Given the description of an element on the screen output the (x, y) to click on. 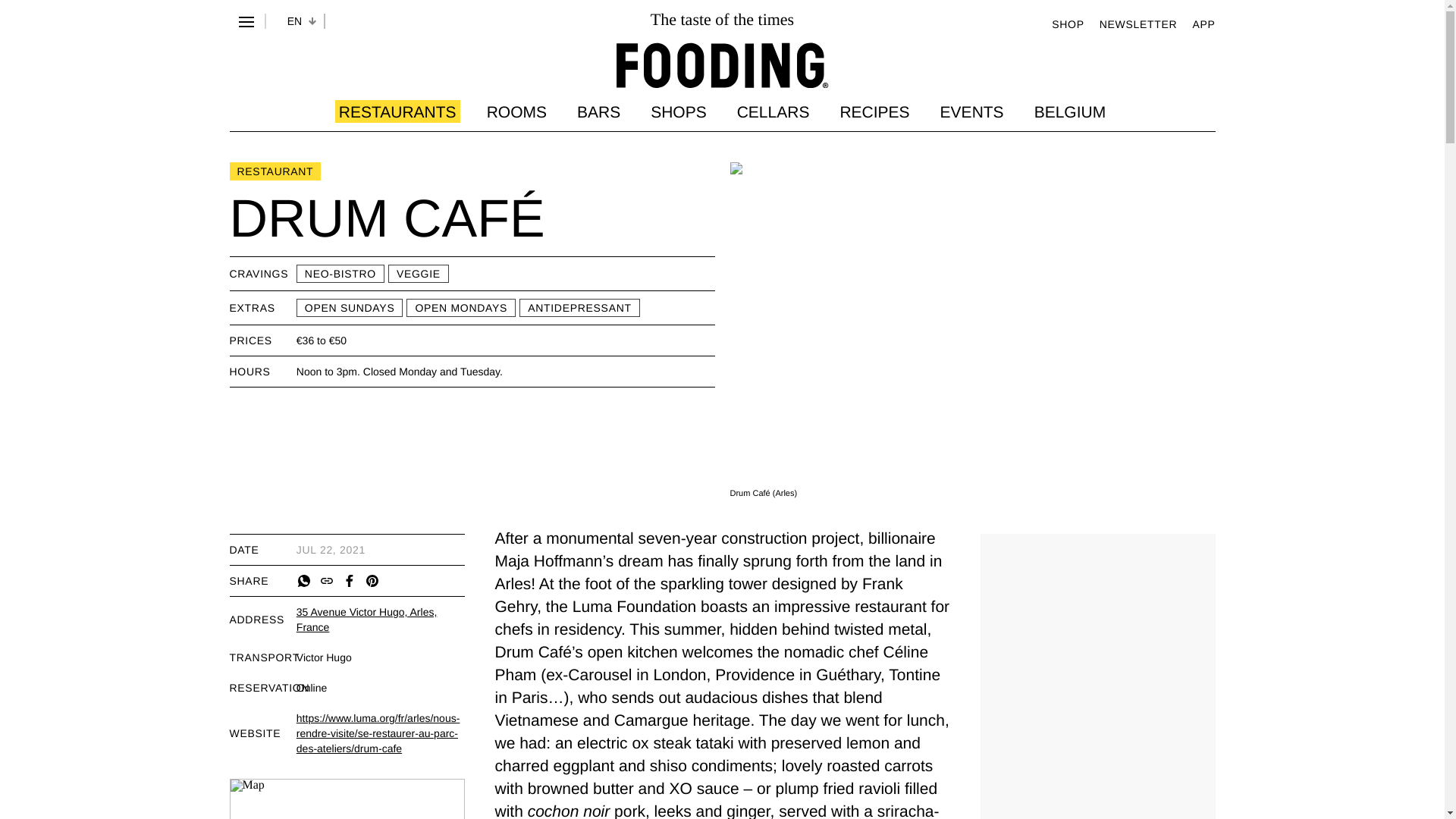
RESTAURANTS (398, 111)
BELGIUM (1069, 111)
ROOMS (516, 111)
BARS (598, 111)
EVENTS (972, 111)
RECIPES (874, 111)
SHOP (1067, 22)
APP (1203, 22)
SHOPS (678, 111)
EN (293, 20)
CELLARS (772, 111)
NEWSLETTER (1138, 22)
